Given the description of an element on the screen output the (x, y) to click on. 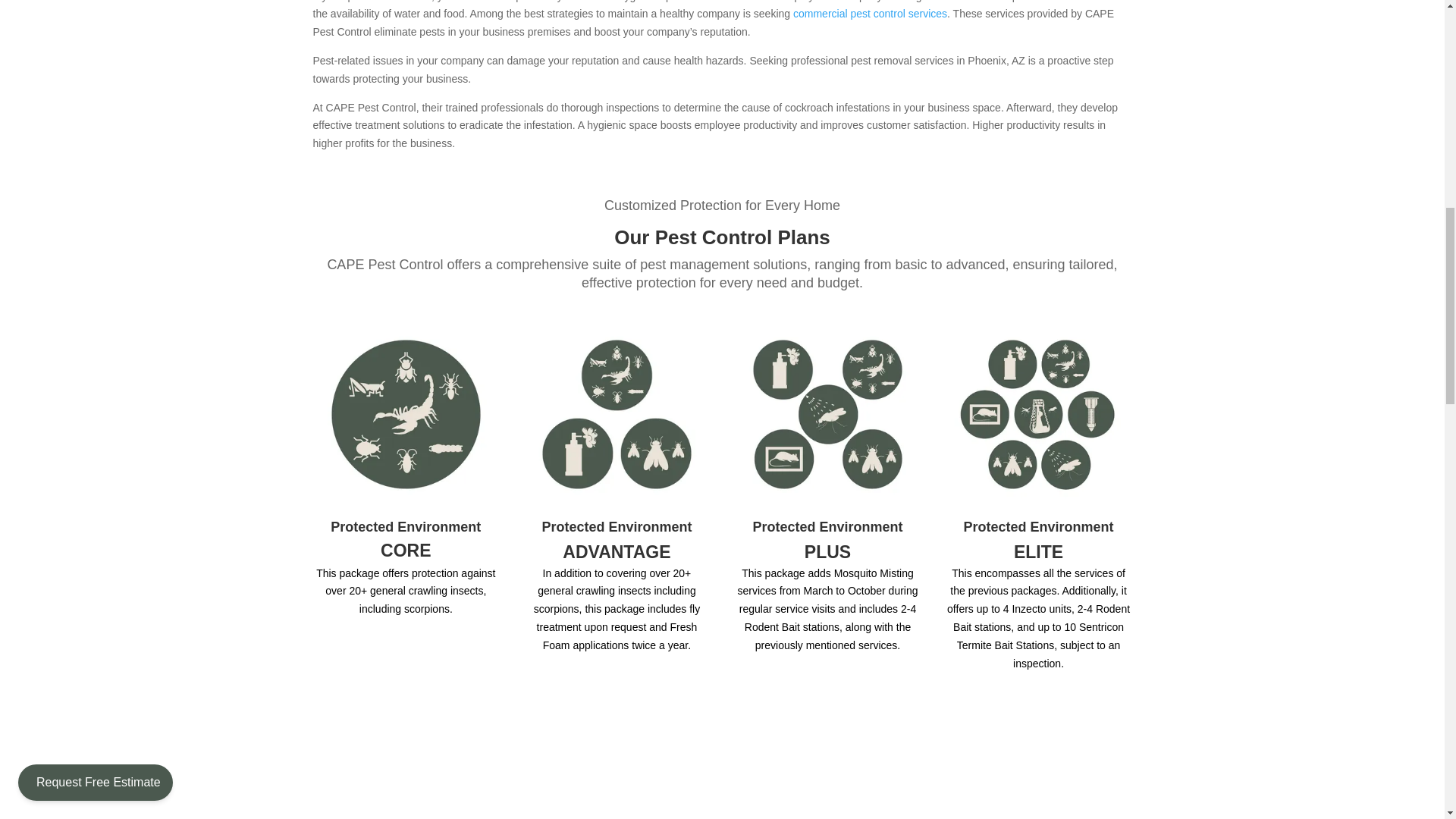
Cape Pest Control Package 3 334w (828, 414)
Cape Pest Control Package One 334w (406, 414)
Cape Pest Control Package 4 336w (1038, 414)
Cape Pest Control Package 2 334w (617, 414)
